Given the description of an element on the screen output the (x, y) to click on. 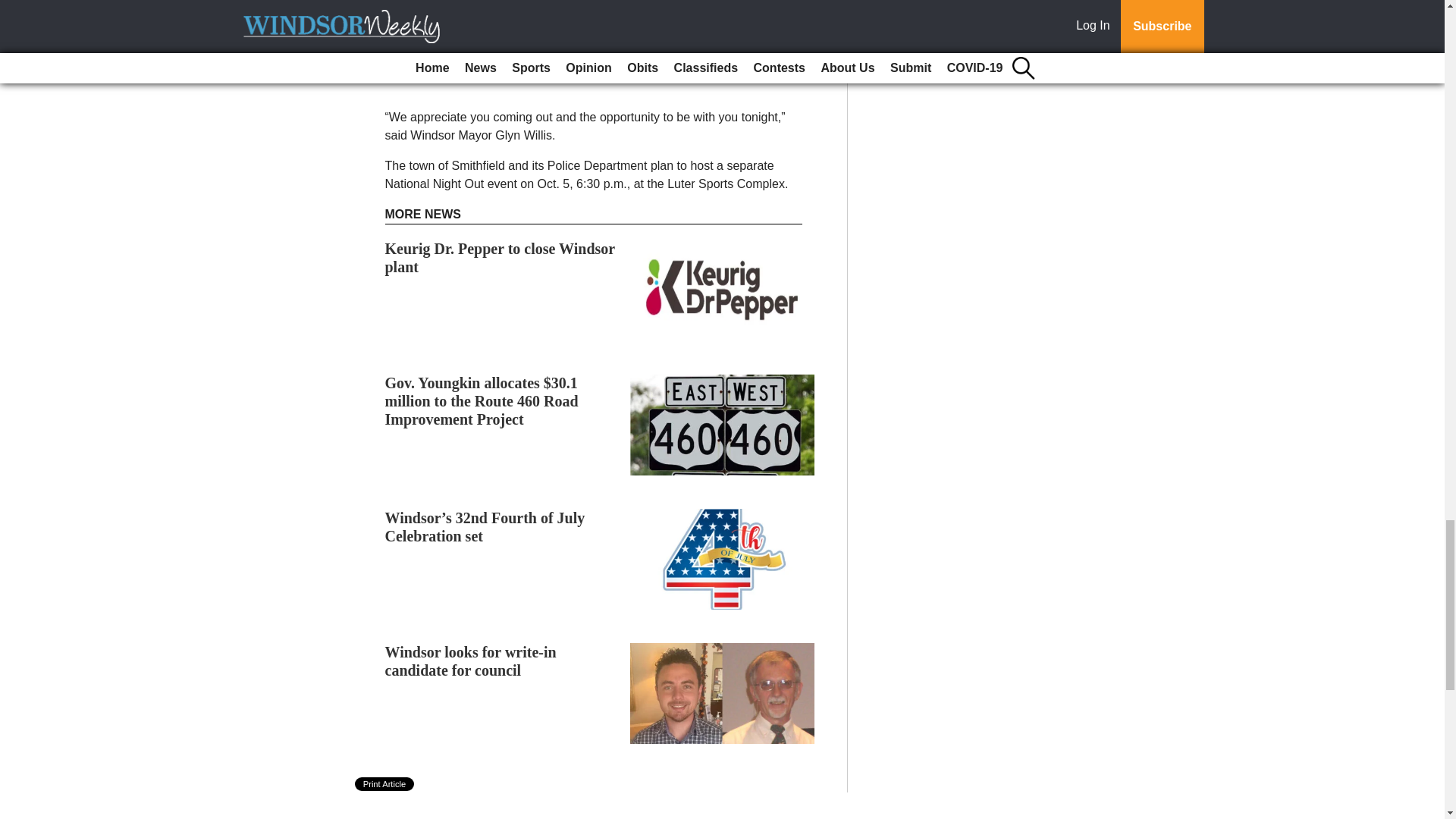
Keurig Dr. Pepper to close Windsor plant (499, 257)
Keurig Dr. Pepper to close Windsor plant (499, 257)
Print Article (384, 784)
Windsor looks for write-in candidate for council (470, 660)
Windsor looks for write-in candidate for council (470, 660)
